Given the description of an element on the screen output the (x, y) to click on. 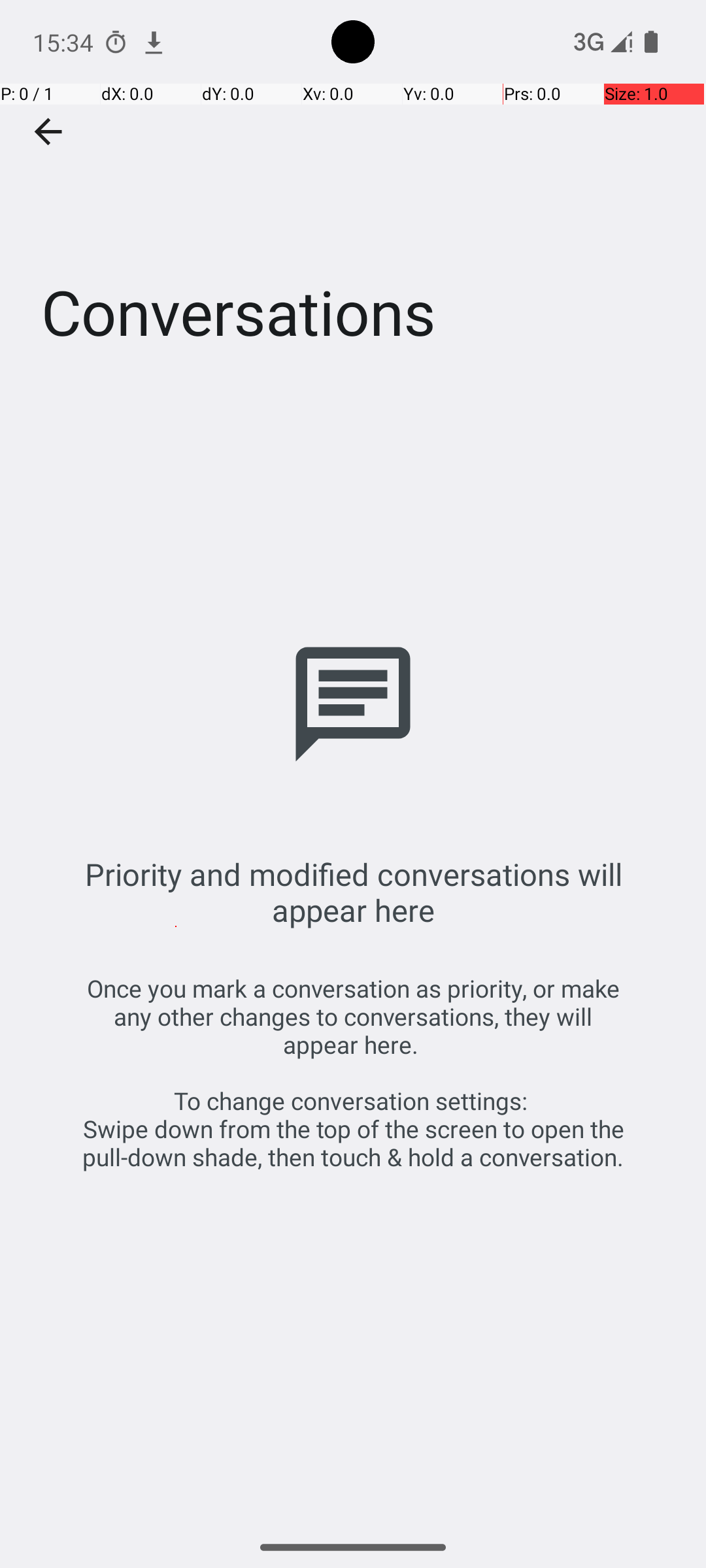
Priority and modified conversations will appear here Element type: android.widget.TextView (352, 891)
Once you mark a conversation as priority, or make any other changes to conversations, they will appear here. 

To change conversation settings: 
Swipe down from the top of the screen to open the pull-down shade, then touch & hold a conversation. Element type: android.widget.TextView (352, 1072)
